Given the description of an element on the screen output the (x, y) to click on. 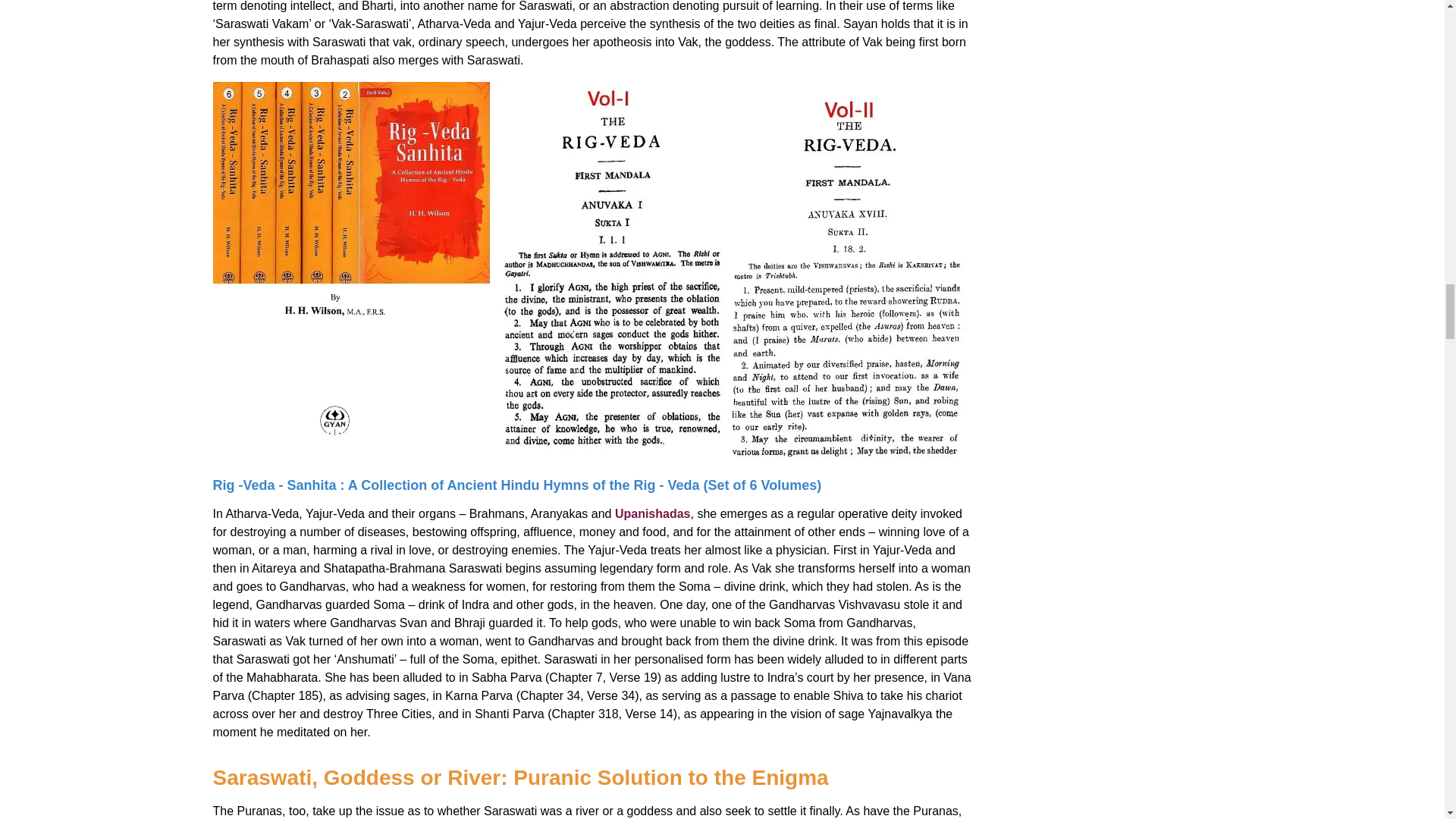
Upanishadas (652, 513)
